Given the description of an element on the screen output the (x, y) to click on. 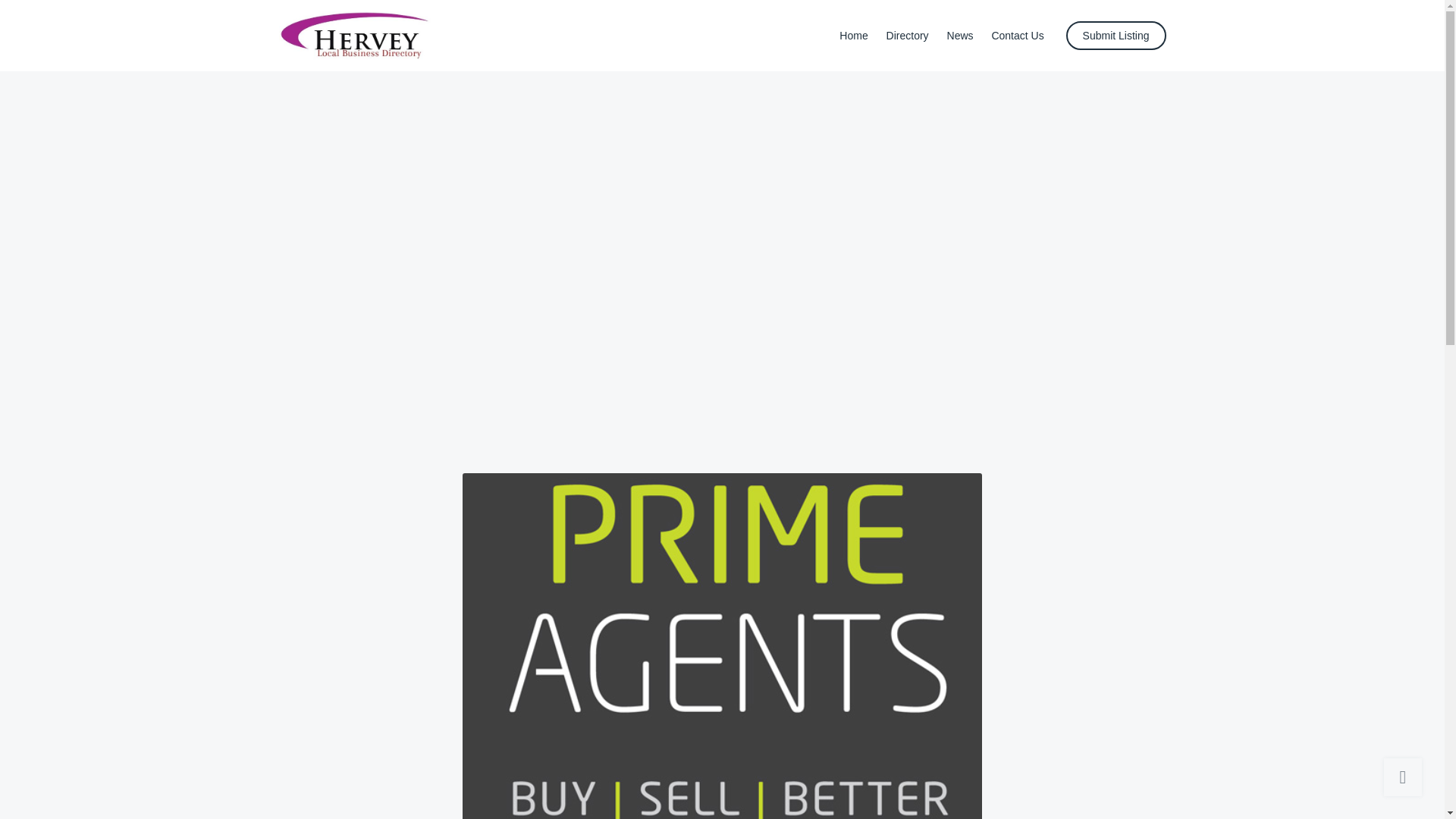
Directory (907, 35)
Contact Us (1017, 35)
Home (853, 35)
News (960, 35)
Submit Listing (1115, 35)
